Given the description of an element on the screen output the (x, y) to click on. 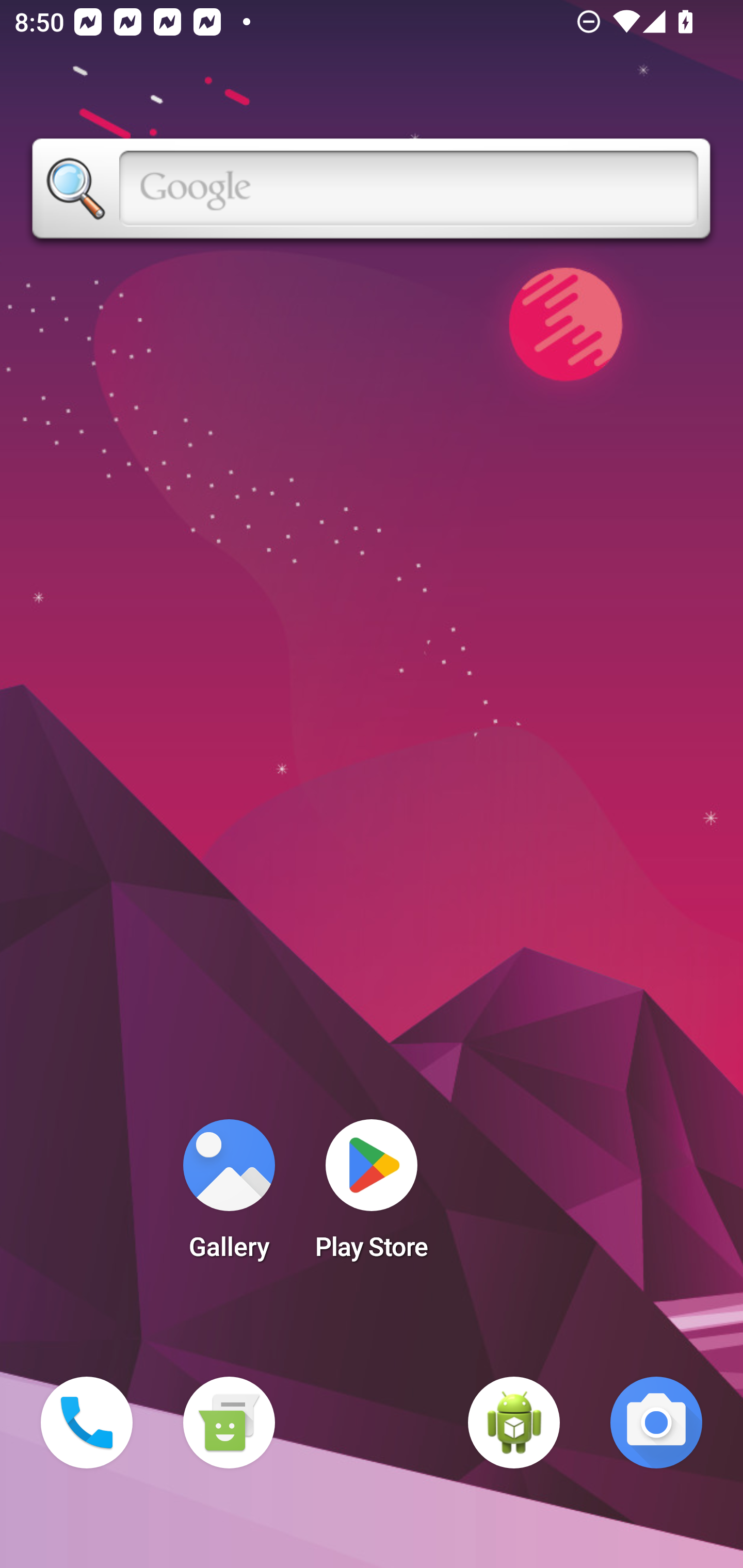
Gallery (228, 1195)
Play Store (371, 1195)
Phone (86, 1422)
Messaging (228, 1422)
WebView Browser Tester (513, 1422)
Camera (656, 1422)
